Given the description of an element on the screen output the (x, y) to click on. 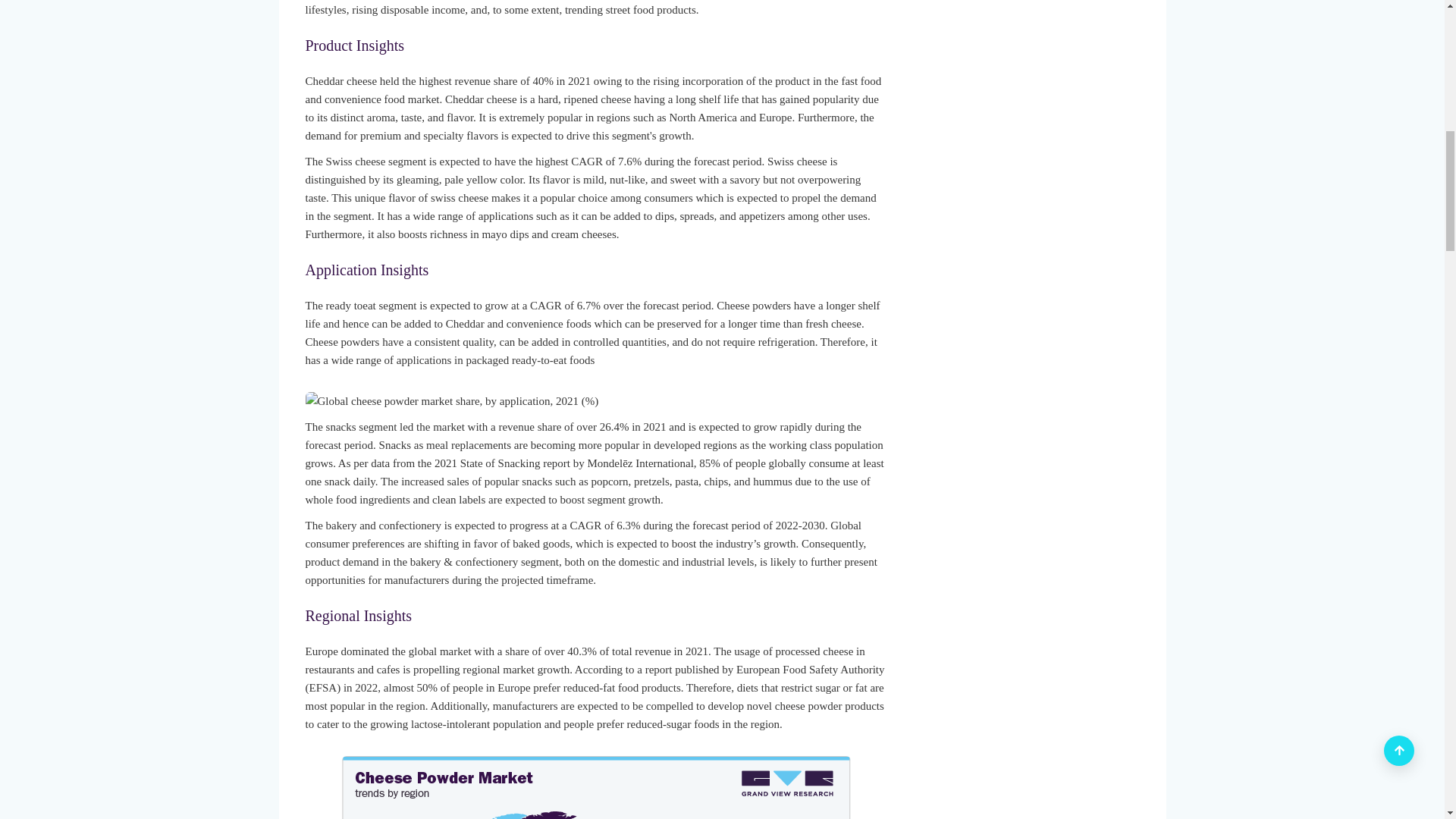
Cheese Powder Market Trends by Region (596, 787)
